Given the description of an element on the screen output the (x, y) to click on. 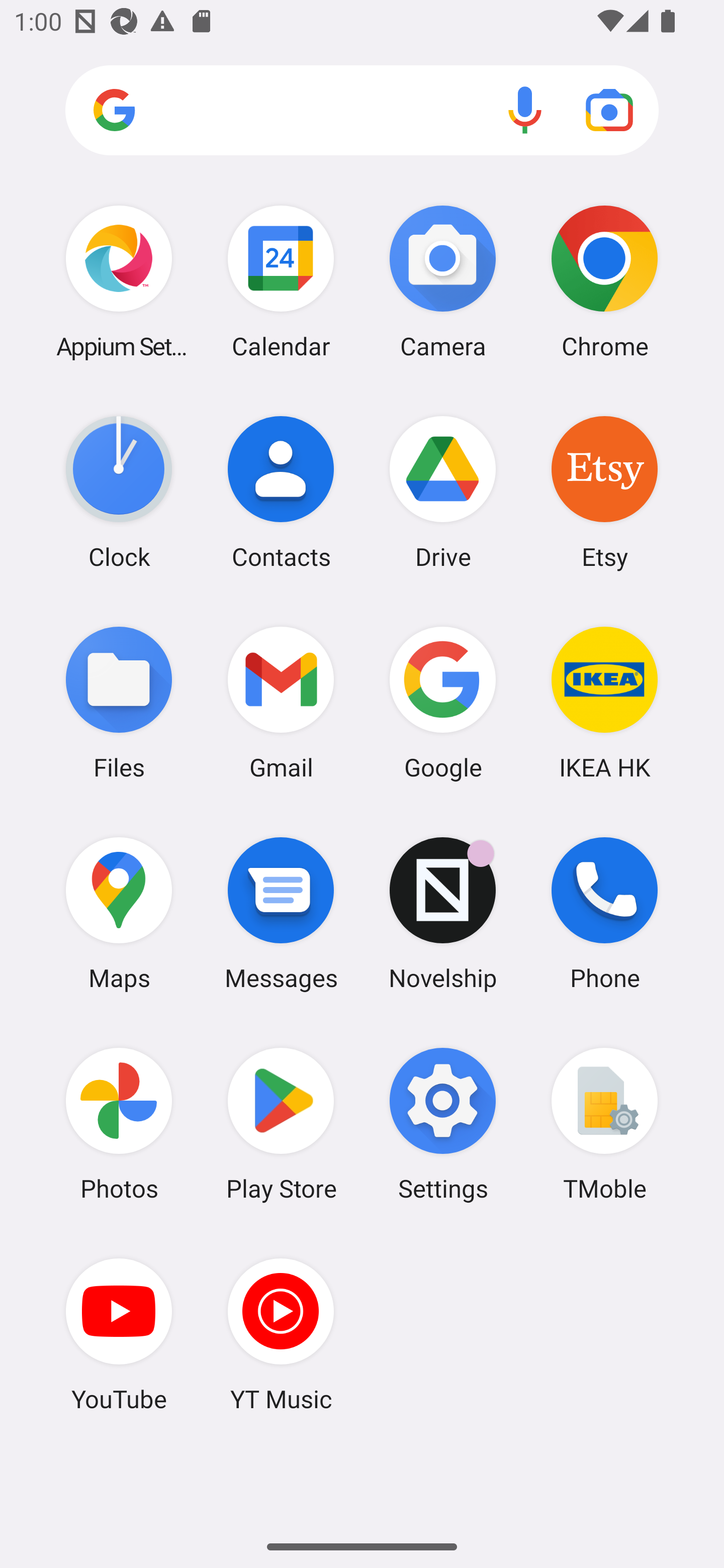
Search apps, web and more (361, 110)
Voice search (524, 109)
Google Lens (608, 109)
Appium Settings (118, 281)
Calendar (280, 281)
Camera (443, 281)
Chrome (604, 281)
Clock (118, 492)
Contacts (280, 492)
Drive (443, 492)
Etsy (604, 492)
Files (118, 702)
Gmail (280, 702)
Google (443, 702)
IKEA HK (604, 702)
Maps (118, 913)
Messages (280, 913)
Novelship Novelship has 7 notifications (443, 913)
Phone (604, 913)
Photos (118, 1124)
Play Store (280, 1124)
Settings (443, 1124)
TMoble (604, 1124)
YouTube (118, 1334)
YT Music (280, 1334)
